Given the description of an element on the screen output the (x, y) to click on. 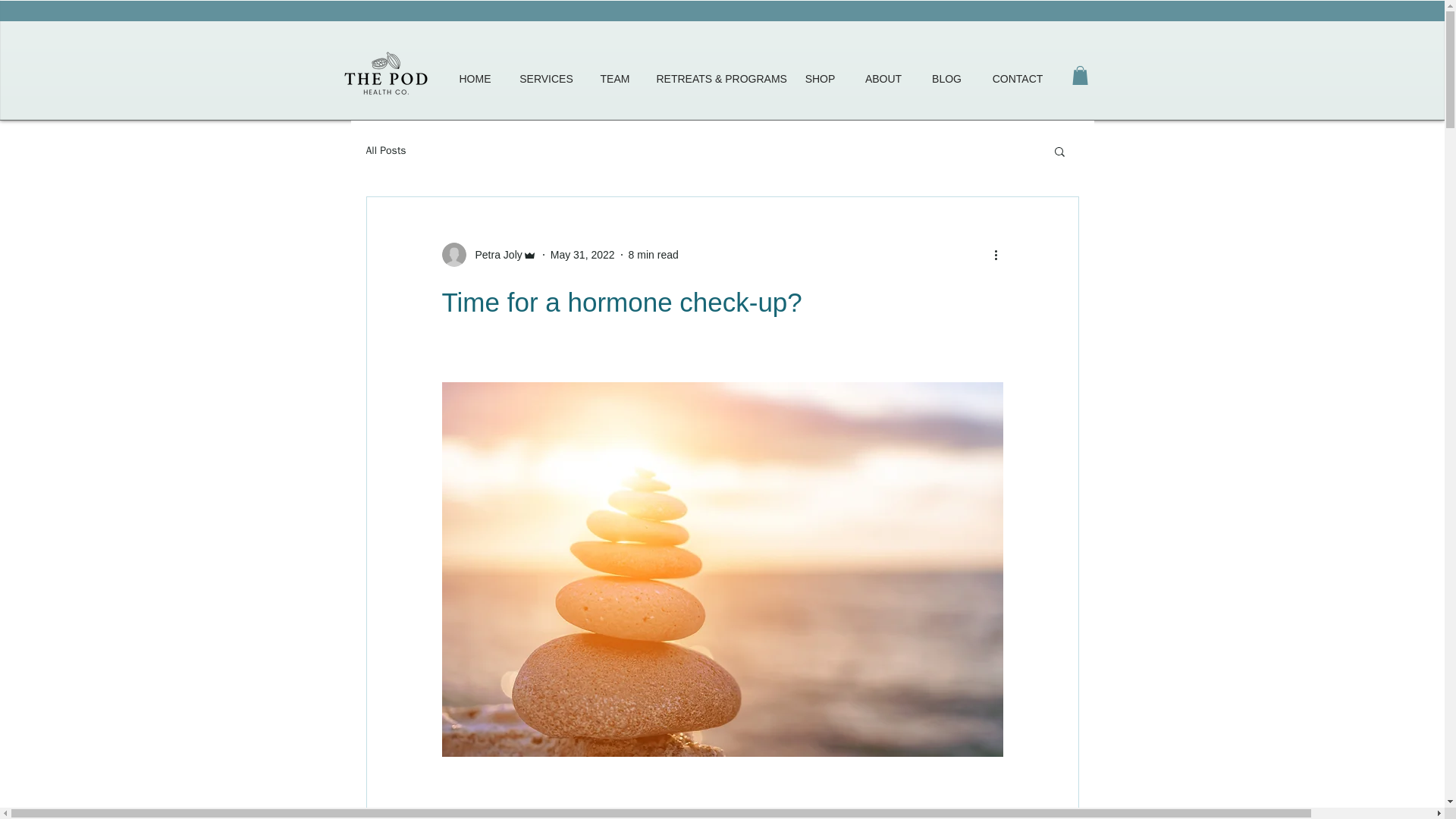
BLOG (945, 78)
SERVICES (546, 78)
Petra Joly (488, 254)
HOME (475, 78)
SHOP (820, 78)
CONTACT (1017, 78)
TEAM (615, 78)
8 min read (653, 254)
All Posts (385, 151)
May 31, 2022 (582, 254)
